Given the description of an element on the screen output the (x, y) to click on. 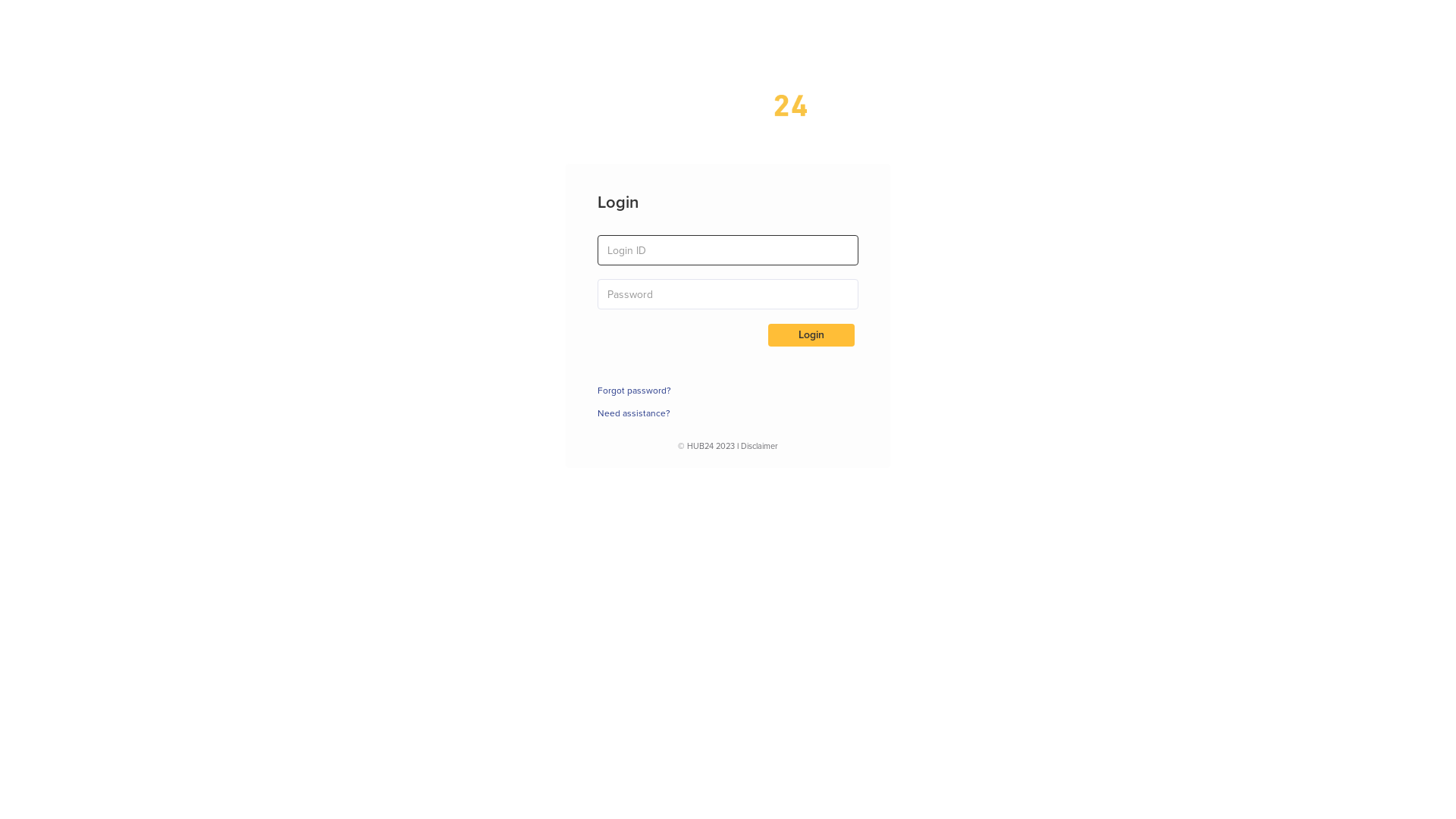
Disclaimer Element type: text (759, 446)
Forgot password? Element type: text (634, 390)
Login Element type: text (811, 334)
Home Element type: hover (727, 115)
Need assistance? Element type: text (633, 413)
